Given the description of an element on the screen output the (x, y) to click on. 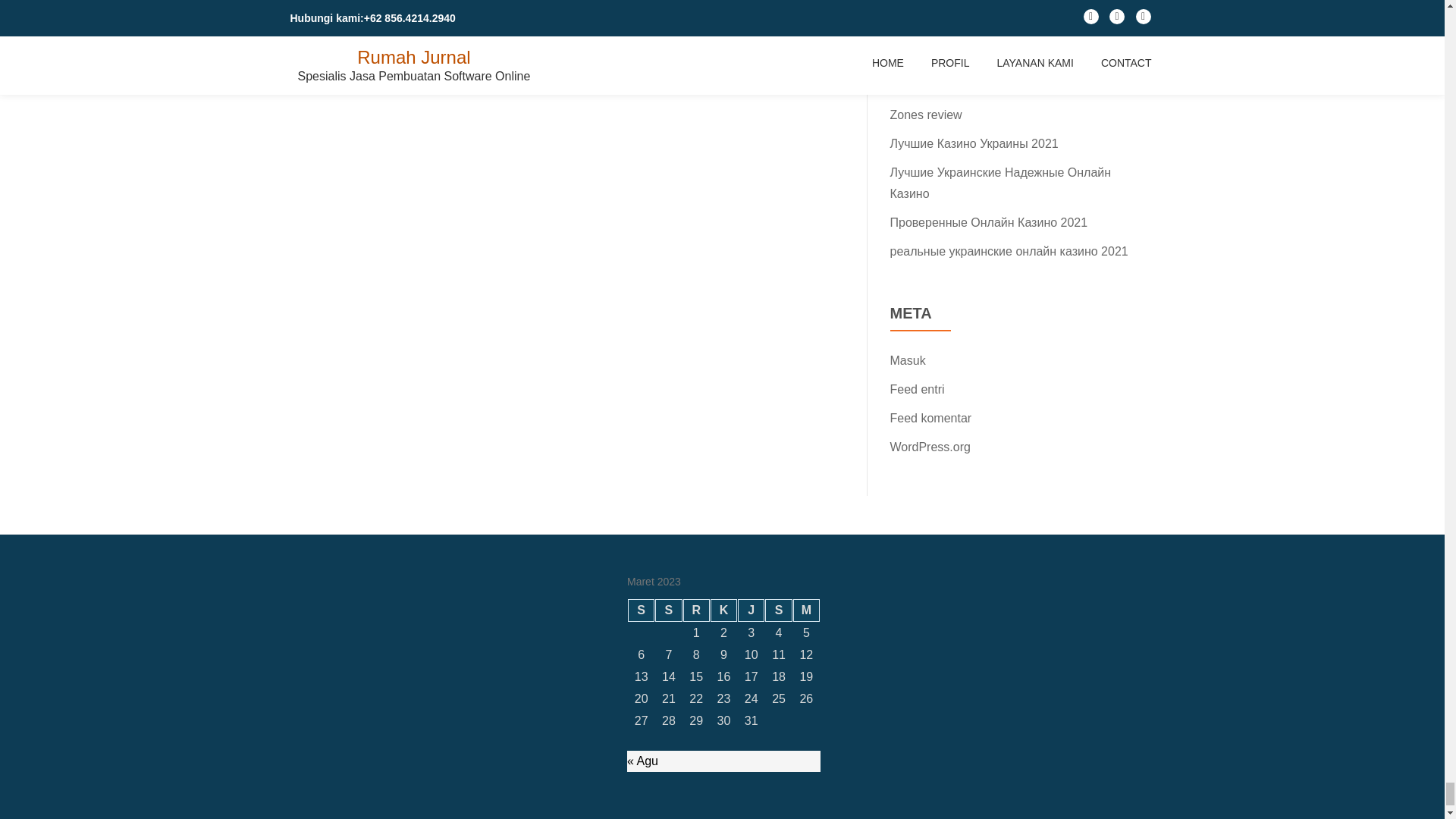
Senin (640, 609)
Selasa (668, 609)
Sabtu (778, 609)
Jumat (751, 609)
Minggu (806, 609)
Kamis (723, 609)
Rabu (696, 609)
